Given the description of an element on the screen output the (x, y) to click on. 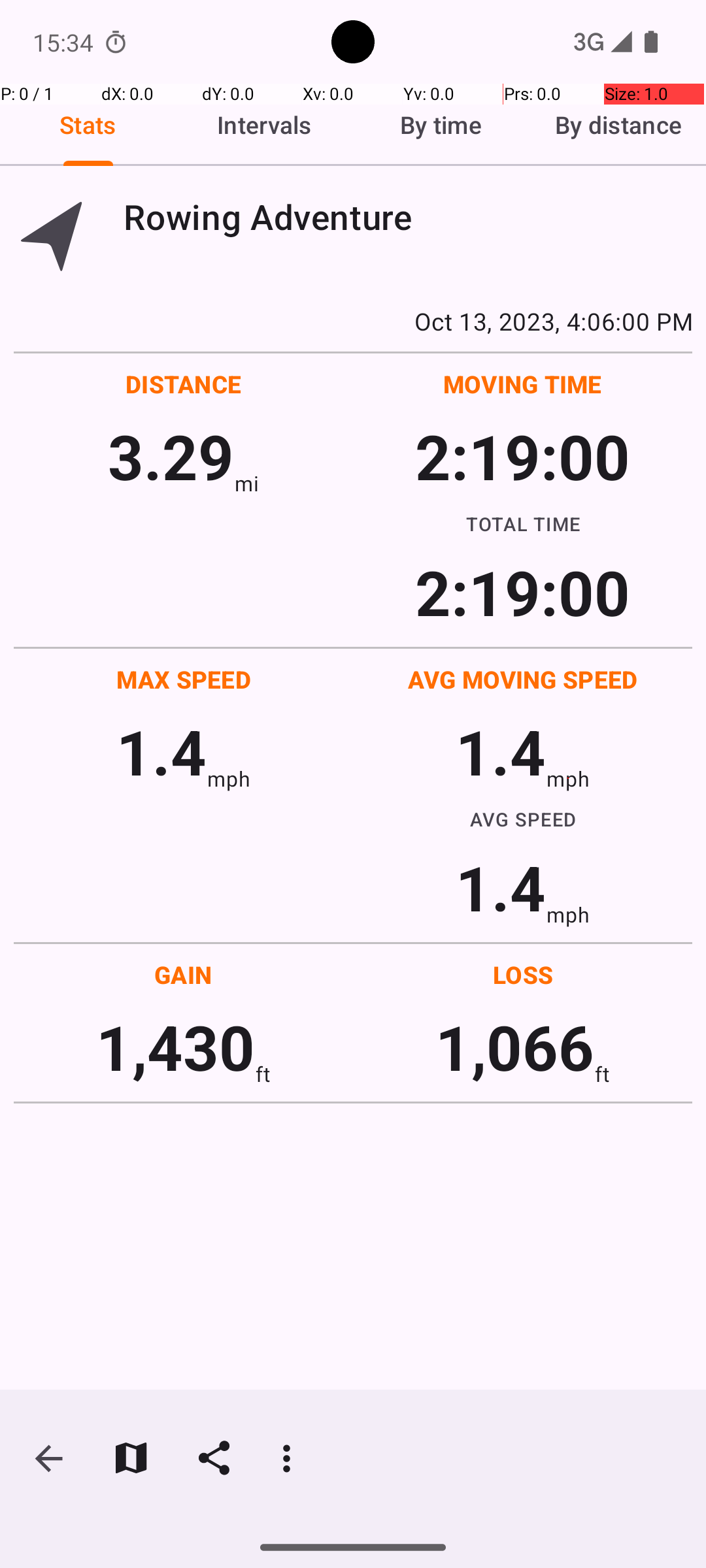
Rowing Adventure Element type: android.widget.TextView (407, 216)
Oct 13, 2023, 4:06:00 PM Element type: android.widget.TextView (352, 320)
3.29 Element type: android.widget.TextView (170, 455)
2:19:00 Element type: android.widget.TextView (522, 455)
1.4 Element type: android.widget.TextView (161, 750)
1,430 Element type: android.widget.TextView (175, 1045)
1,066 Element type: android.widget.TextView (514, 1045)
